Given the description of an element on the screen output the (x, y) to click on. 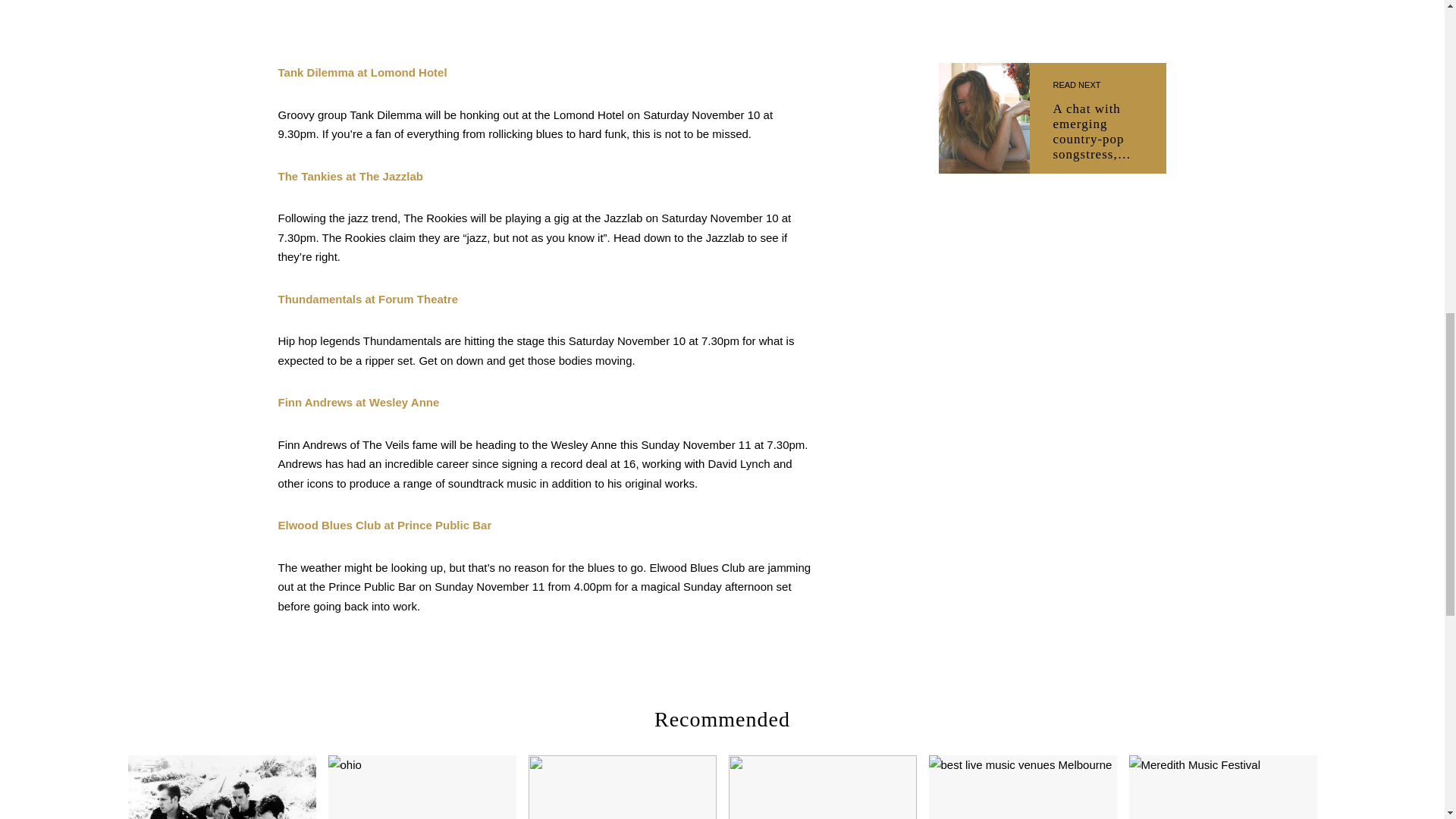
Elwood Blues Club at Prince Public Bar (385, 524)
Thundamentals at Forum Theatre (368, 298)
Finn Andrews at Wesley Anne (358, 401)
The Tankies at The Jazzlab (350, 175)
Tank Dilemma at Lomond Hotel (362, 72)
